Given the description of an element on the screen output the (x, y) to click on. 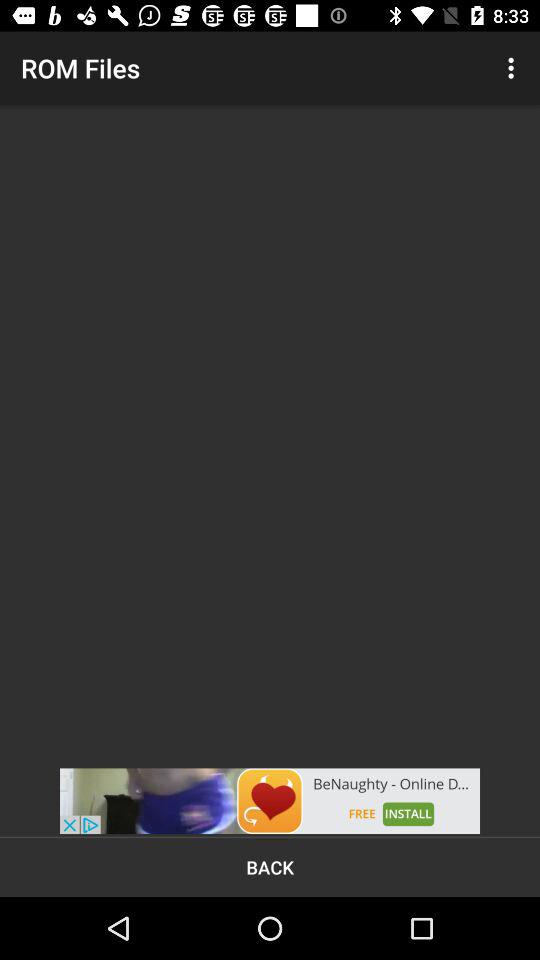
click on benaughty advertisement (270, 801)
